Given the description of an element on the screen output the (x, y) to click on. 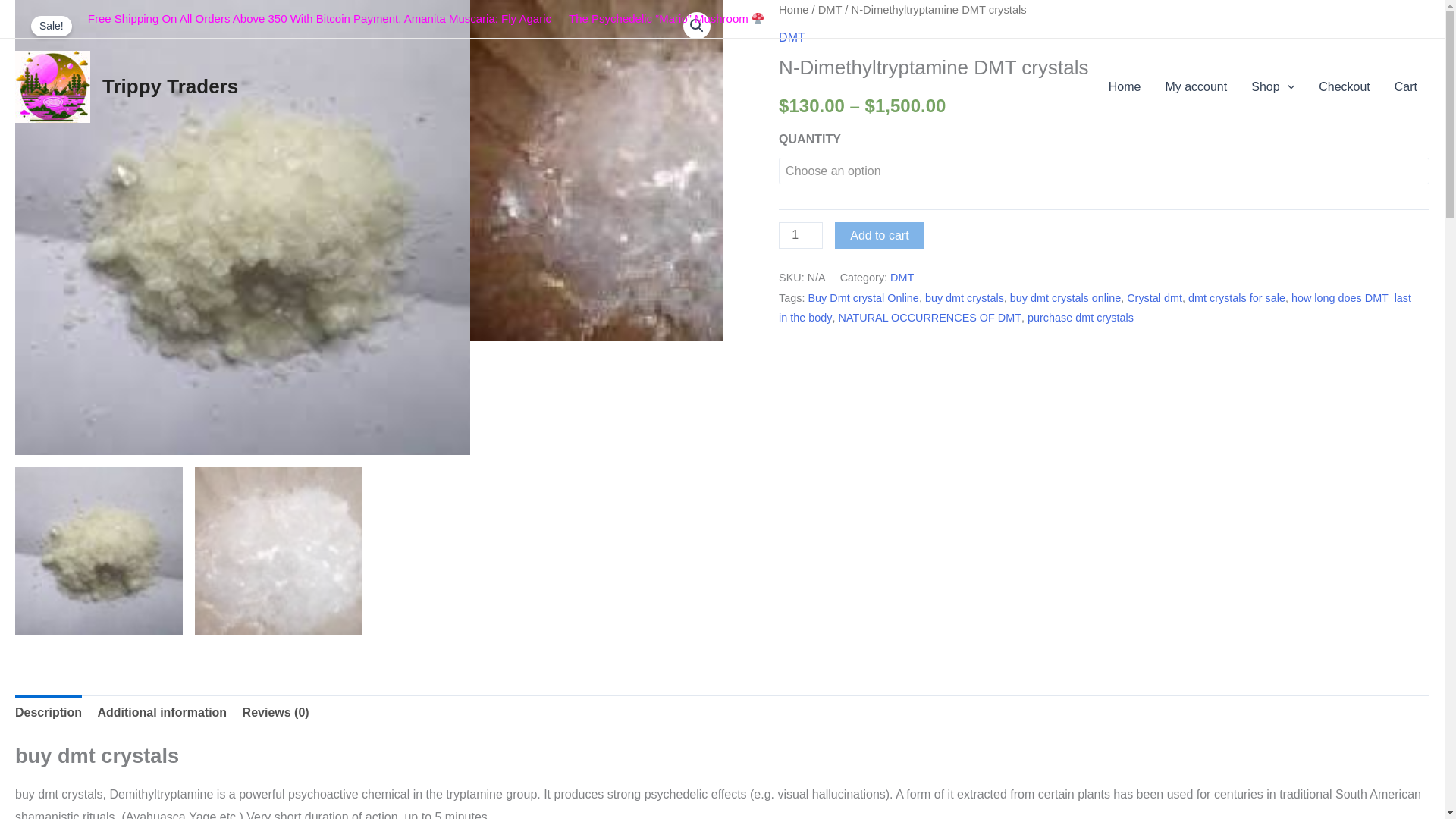
Checkout (1343, 86)
Home (1124, 86)
My account (1196, 86)
1 (800, 234)
Home (793, 9)
Trippy Traders (169, 86)
Shop (1272, 86)
